Given the description of an element on the screen output the (x, y) to click on. 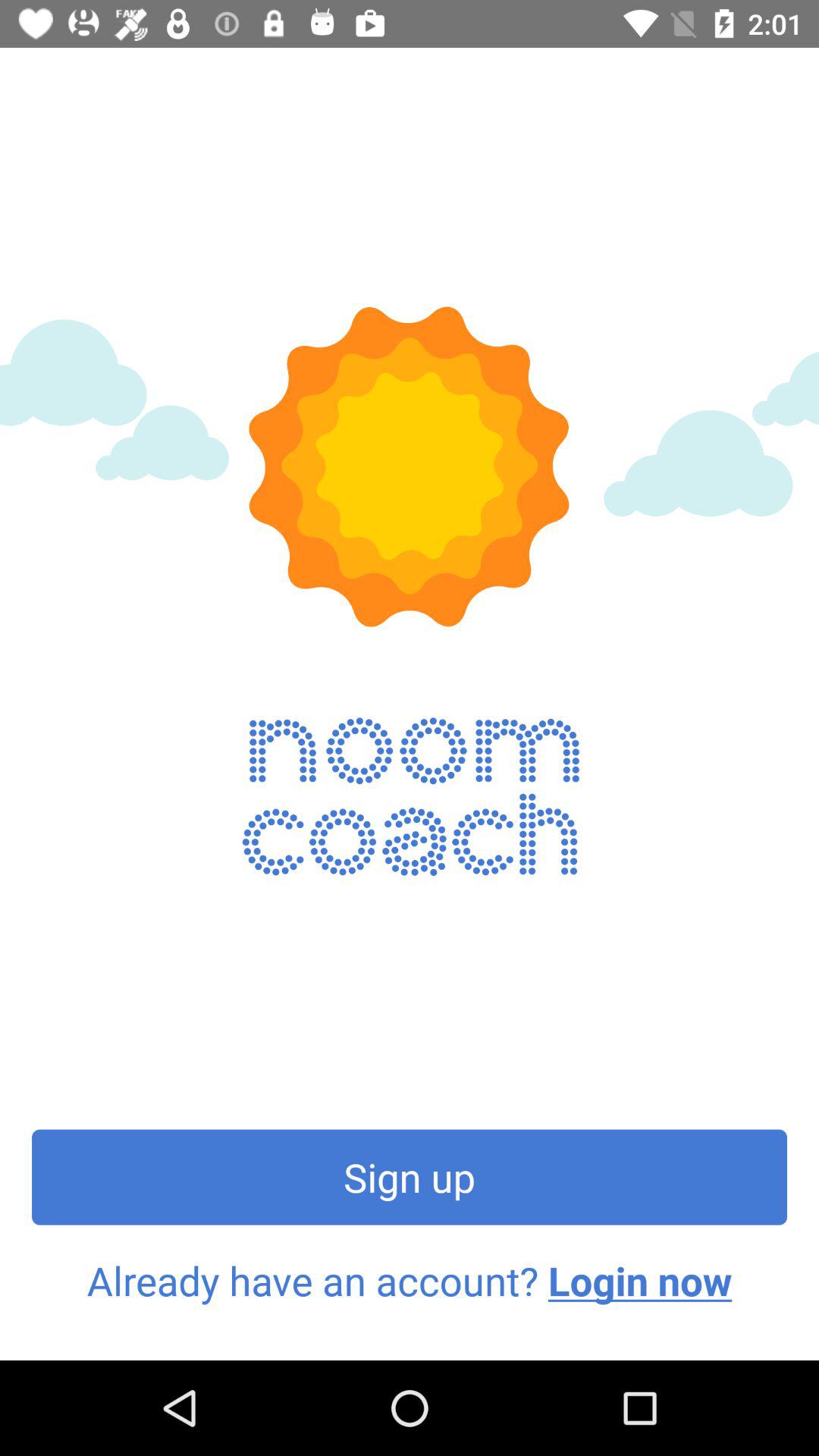
tap already have an item (409, 1280)
